Given the description of an element on the screen output the (x, y) to click on. 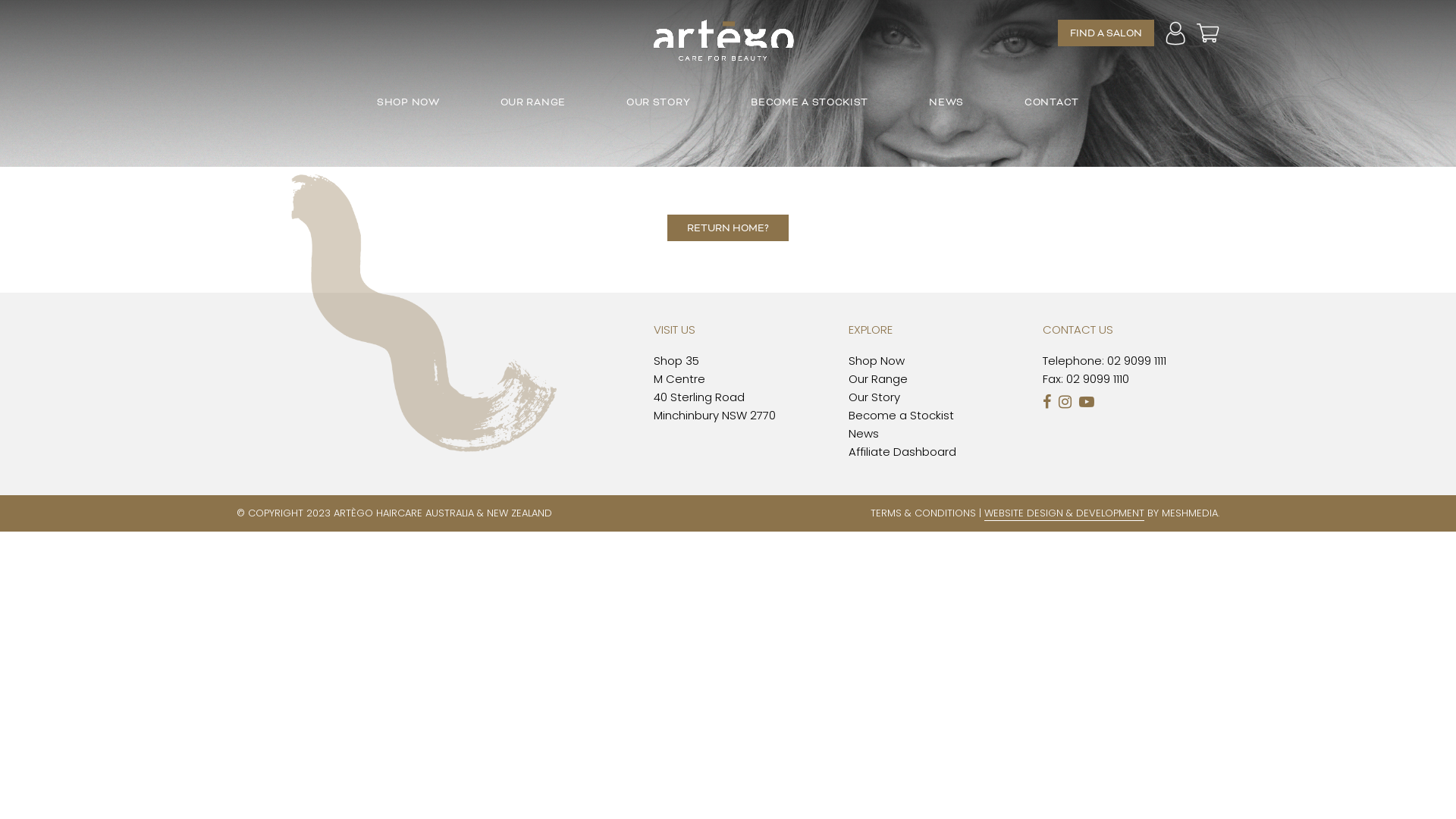
NEWS Element type: text (946, 103)
My Basket Element type: hover (1207, 32)
SHOP NOW Element type: text (408, 103)
CONTACT Element type: text (1051, 103)
Shop Now Element type: text (876, 360)
News Element type: text (863, 433)
FIND A SALON Element type: text (1105, 32)
Our Story Element type: text (874, 396)
TERMS & CONDITIONS Element type: text (922, 512)
MESHMEDIA Element type: text (1189, 512)
RETURN HOME? Element type: text (727, 227)
OUR RANGE Element type: text (532, 103)
Shop 35
M Centre
40 Sterling Road
Minchinbury NSW 2770 Element type: text (714, 387)
Become a Stockist Element type: text (900, 415)
OUR STORY Element type: text (657, 103)
BECOME A STOCKIST Element type: text (809, 103)
Affiliate Dashboard Element type: text (902, 451)
Our Range Element type: text (877, 378)
